Given the description of an element on the screen output the (x, y) to click on. 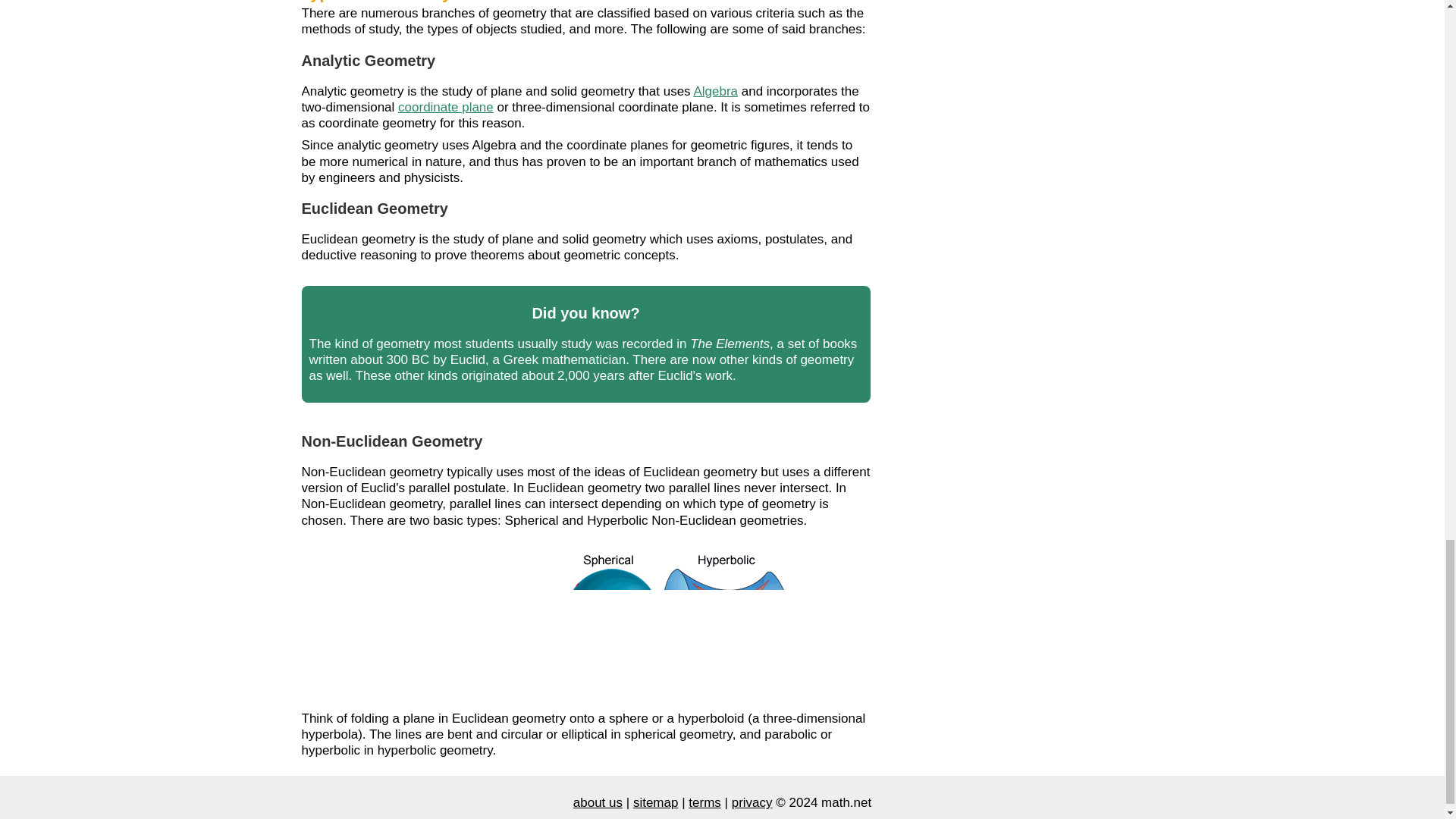
about us (598, 802)
privacy (752, 802)
Algebra (715, 90)
terms (704, 802)
sitemap (655, 802)
coordinate plane (445, 106)
